Given the description of an element on the screen output the (x, y) to click on. 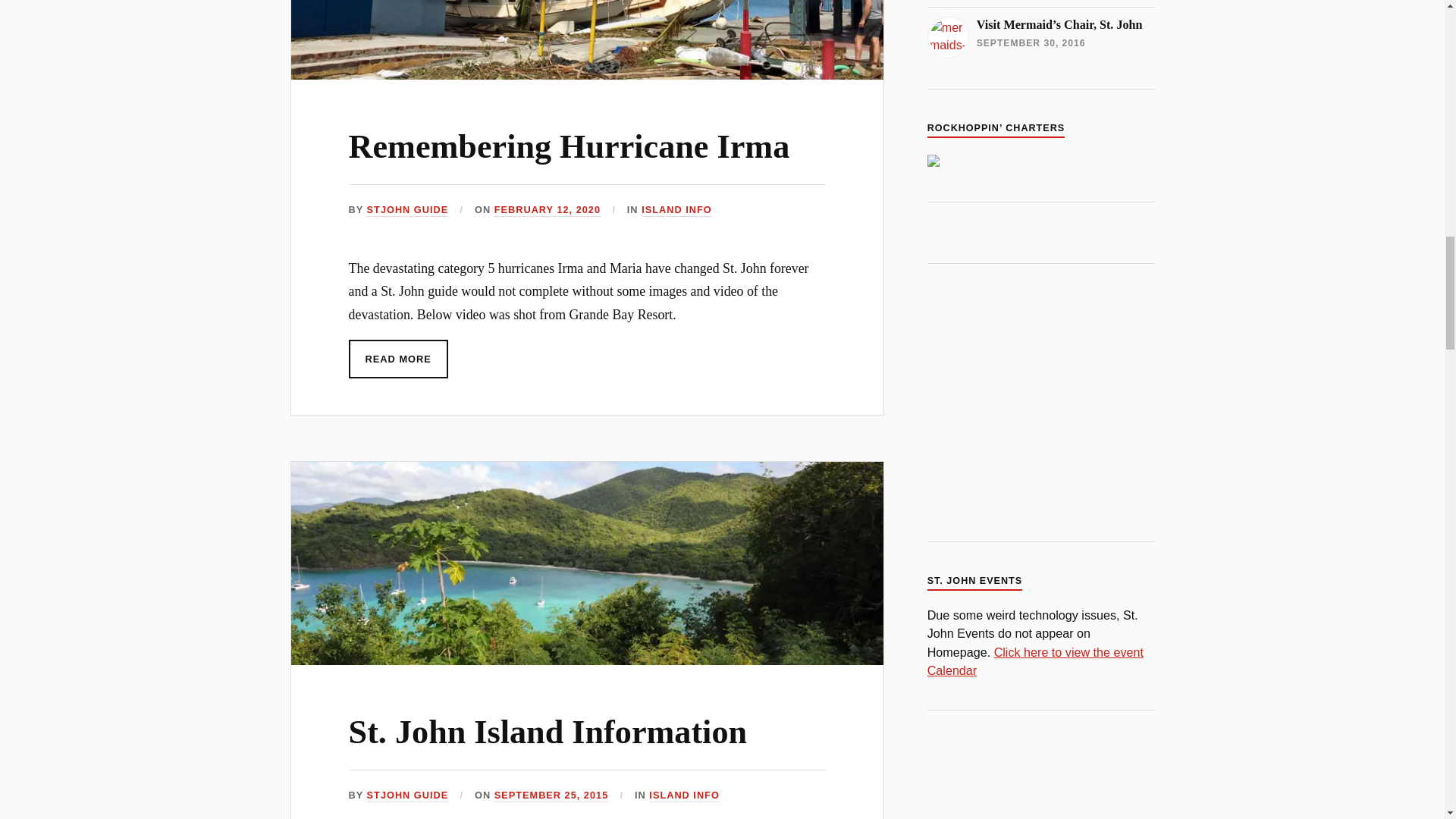
Posts by stjohn guide (407, 795)
Posts by stjohn guide (407, 210)
